Given the description of an element on the screen output the (x, y) to click on. 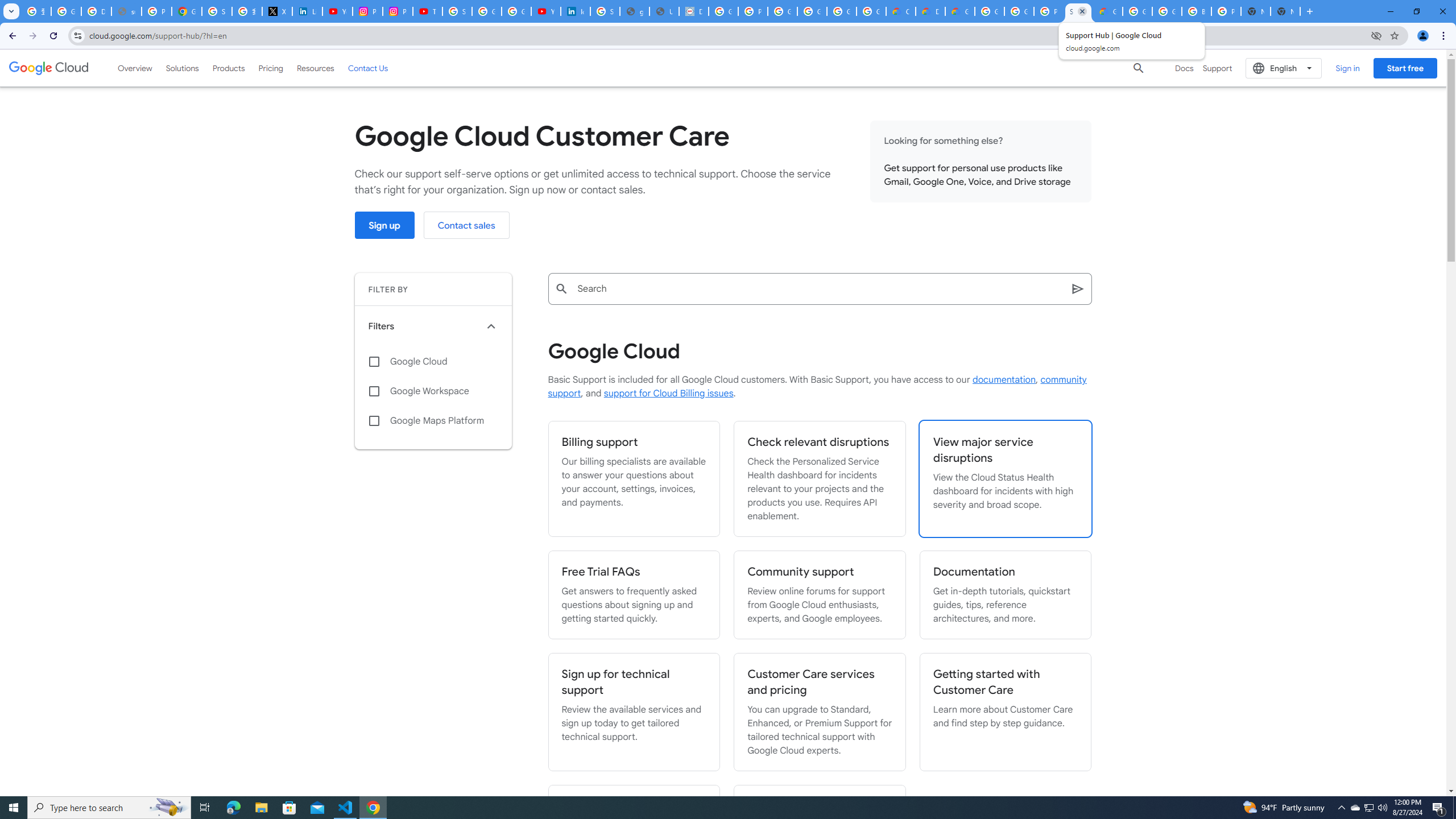
Start free (1405, 67)
Google Workspace (432, 391)
Google Maps Platform (432, 420)
community support (816, 386)
LinkedIn Privacy Policy (306, 11)
Sign in - Google Accounts (456, 11)
